Given the description of an element on the screen output the (x, y) to click on. 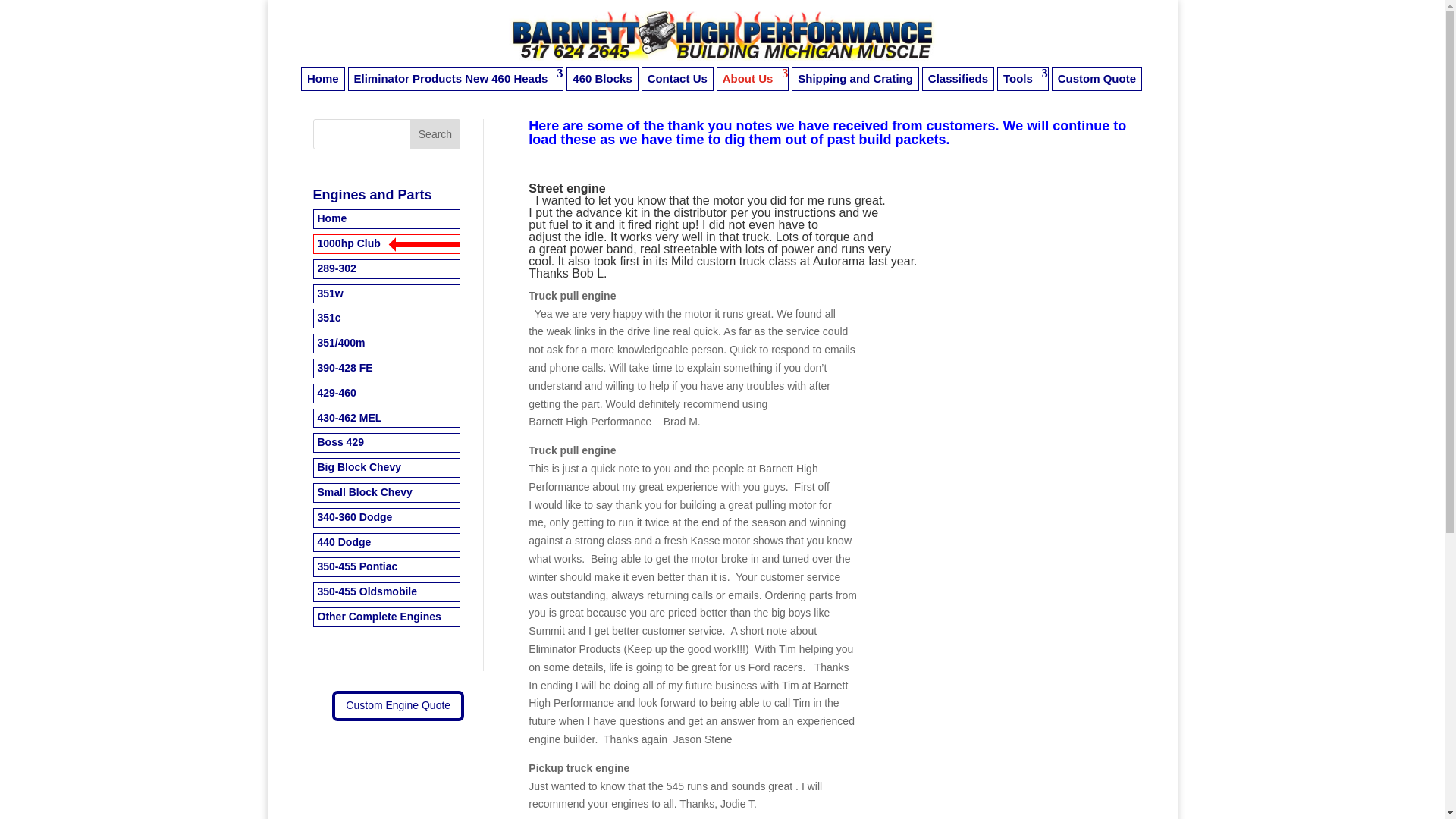
Search (435, 133)
